Given the description of an element on the screen output the (x, y) to click on. 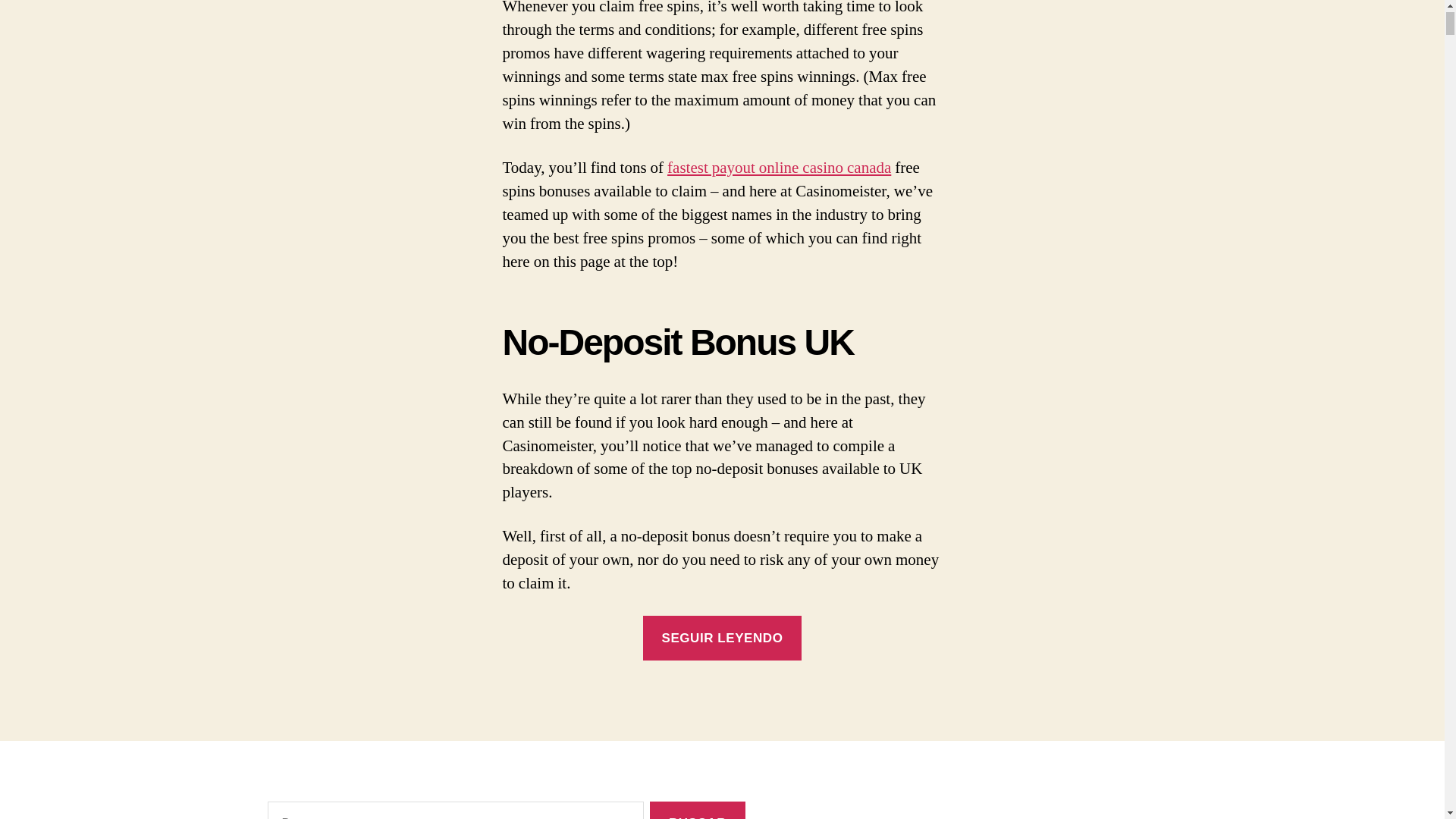
fastest payout online casino canada (778, 168)
Buscar (696, 810)
Buscar (696, 810)
Buscar (696, 810)
